Given the description of an element on the screen output the (x, y) to click on. 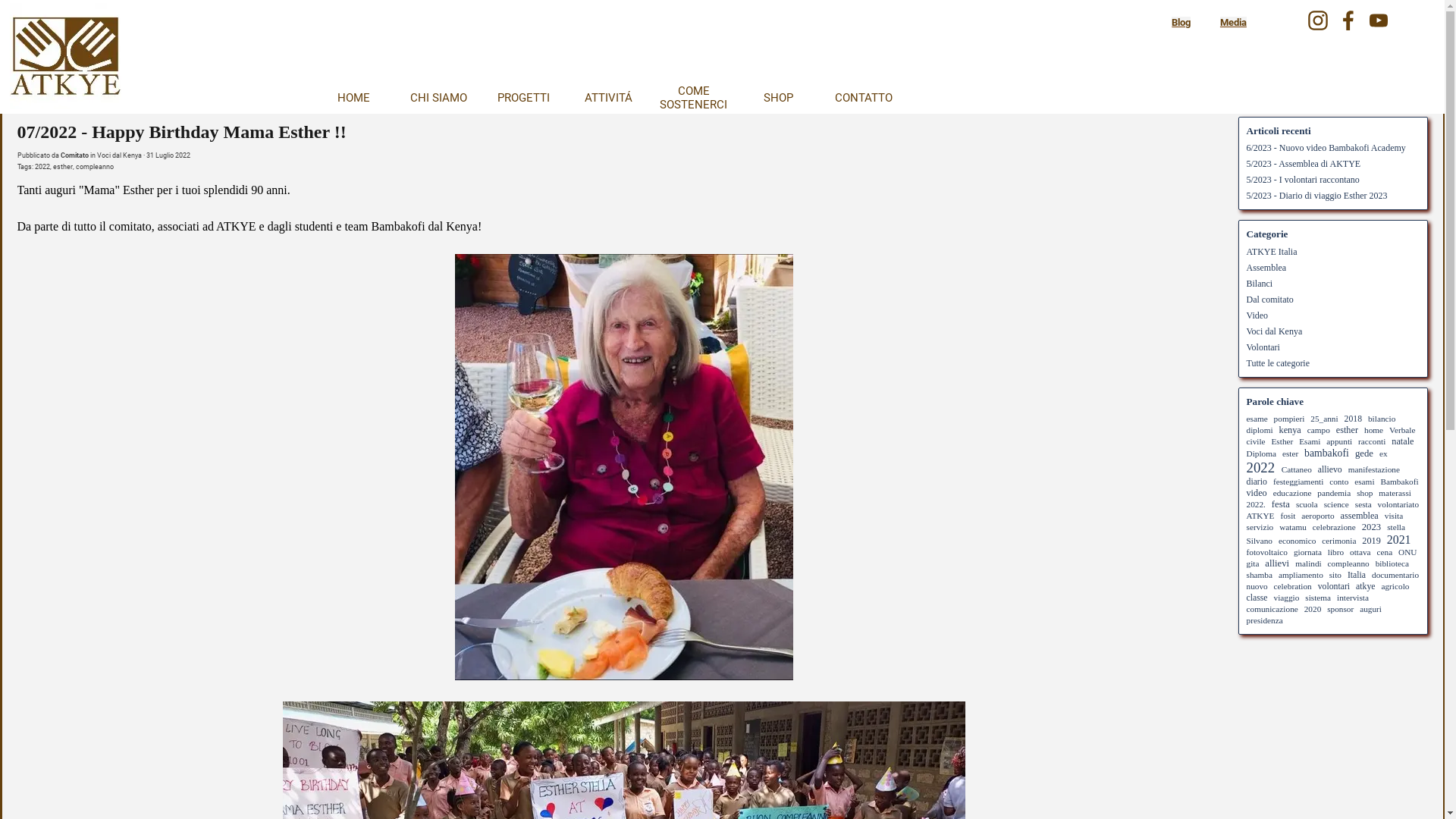
2021 Element type: text (1398, 539)
Cattaneo Element type: text (1296, 468)
campo Element type: text (1318, 429)
esami Element type: text (1364, 481)
home Element type: text (1373, 429)
auguri Element type: text (1370, 608)
celebrazione Element type: text (1333, 526)
ATKYE Italia Element type: text (1271, 250)
fotovoltaico Element type: text (1267, 551)
malindi Element type: text (1308, 562)
bambakofi Element type: text (1326, 452)
shop Element type: text (1364, 492)
PROGETTI Element type: text (523, 97)
esther Element type: text (62, 166)
CHI SIAMO Element type: text (438, 97)
cerimonia Element type: text (1338, 540)
Bilanci Element type: text (1259, 282)
assemblea Element type: text (1359, 515)
sponsor Element type: text (1340, 608)
HOME Element type: text (353, 97)
watamu Element type: text (1292, 526)
2022 Element type: text (1260, 467)
festeggiamenti Element type: text (1298, 481)
Voci dal Kenya Element type: text (1274, 331)
bilancio Element type: text (1381, 418)
kenya Element type: text (1290, 429)
atkye Element type: text (1364, 586)
classe Element type: text (1256, 597)
5/2023 - I volontari raccontano Element type: text (1302, 179)
sistema Element type: text (1317, 597)
esame Element type: text (1256, 418)
giornata Element type: text (1307, 551)
video Element type: text (1256, 492)
25_anni Element type: text (1323, 418)
diario Element type: text (1256, 481)
Tutte le categorie Element type: text (1278, 362)
volontari Element type: text (1333, 586)
materassi Element type: text (1394, 492)
fosit Element type: text (1287, 515)
ATKYE Element type: text (1260, 515)
visita Element type: text (1393, 515)
allievi Element type: text (1276, 563)
racconti Element type: text (1371, 440)
pompieri Element type: text (1289, 418)
2023 Element type: text (1370, 526)
ottava Element type: text (1360, 551)
shamba Element type: text (1259, 574)
civile Element type: text (1255, 440)
stella Element type: text (1395, 526)
festa Element type: text (1280, 503)
5/2023 - Diario di viaggio Esther 2023 Element type: text (1316, 195)
5/2023 - Assemblea di AKTYE Element type: text (1303, 163)
2022 Element type: text (42, 166)
servizio Element type: text (1260, 526)
ATKYE - Associazione Ticino Kenya Youth Education Element type: hover (64, 58)
Diploma Element type: text (1261, 453)
CONTATTO Element type: text (862, 97)
ONU Element type: text (1407, 551)
economico Element type: text (1297, 540)
science Element type: text (1336, 503)
pandemia Element type: text (1333, 492)
agricolo Element type: text (1394, 585)
ampliamento Element type: text (1300, 574)
Esami Element type: text (1309, 440)
ex Element type: text (1383, 453)
viaggio Element type: text (1286, 597)
Dal comitato Element type: text (1269, 299)
Volontari Element type: text (1263, 346)
sito Element type: text (1335, 574)
volontariato Element type: text (1398, 503)
Media Element type: text (1233, 22)
2022. Element type: text (1255, 503)
Comitato Element type: text (74, 154)
Esther Element type: text (1281, 440)
Silvano Element type: text (1259, 540)
Video Element type: text (1257, 314)
6/2023 - Nuovo video Bambakofi Academy Element type: text (1325, 147)
ester Element type: text (1290, 453)
2018 Element type: text (1352, 418)
Italia Element type: text (1356, 575)
celebration Element type: text (1292, 585)
Bambakofi Element type: text (1399, 481)
2019 Element type: text (1370, 540)
cena Element type: text (1385, 551)
appunti Element type: text (1339, 440)
educazione Element type: text (1292, 492)
comunicazione Element type: text (1272, 608)
Blog Element type: text (1180, 22)
Assemblea Element type: text (1266, 267)
scuola Element type: text (1306, 503)
biblioteca Element type: text (1391, 562)
diplomi Element type: text (1259, 429)
gita Element type: text (1252, 562)
manifestazione Element type: text (1373, 468)
libro Element type: text (1335, 551)
SHOP Element type: text (778, 97)
nuovo Element type: text (1256, 585)
gede Element type: text (1364, 453)
natale Element type: text (1402, 441)
conto Element type: text (1338, 481)
sesta Element type: text (1363, 503)
compleanno Element type: text (94, 166)
documentario Element type: text (1394, 574)
allievo Element type: text (1329, 469)
aeroporto Element type: text (1317, 515)
intervista Element type: text (1352, 597)
COME SOSTENERCI Element type: text (693, 97)
compleanno Element type: text (1348, 562)
esther Element type: text (1347, 429)
2020 Element type: text (1312, 608)
Voci dal Kenya Element type: text (119, 154)
presidenza Element type: text (1264, 619)
Verbale Element type: text (1402, 429)
